Given the description of an element on the screen output the (x, y) to click on. 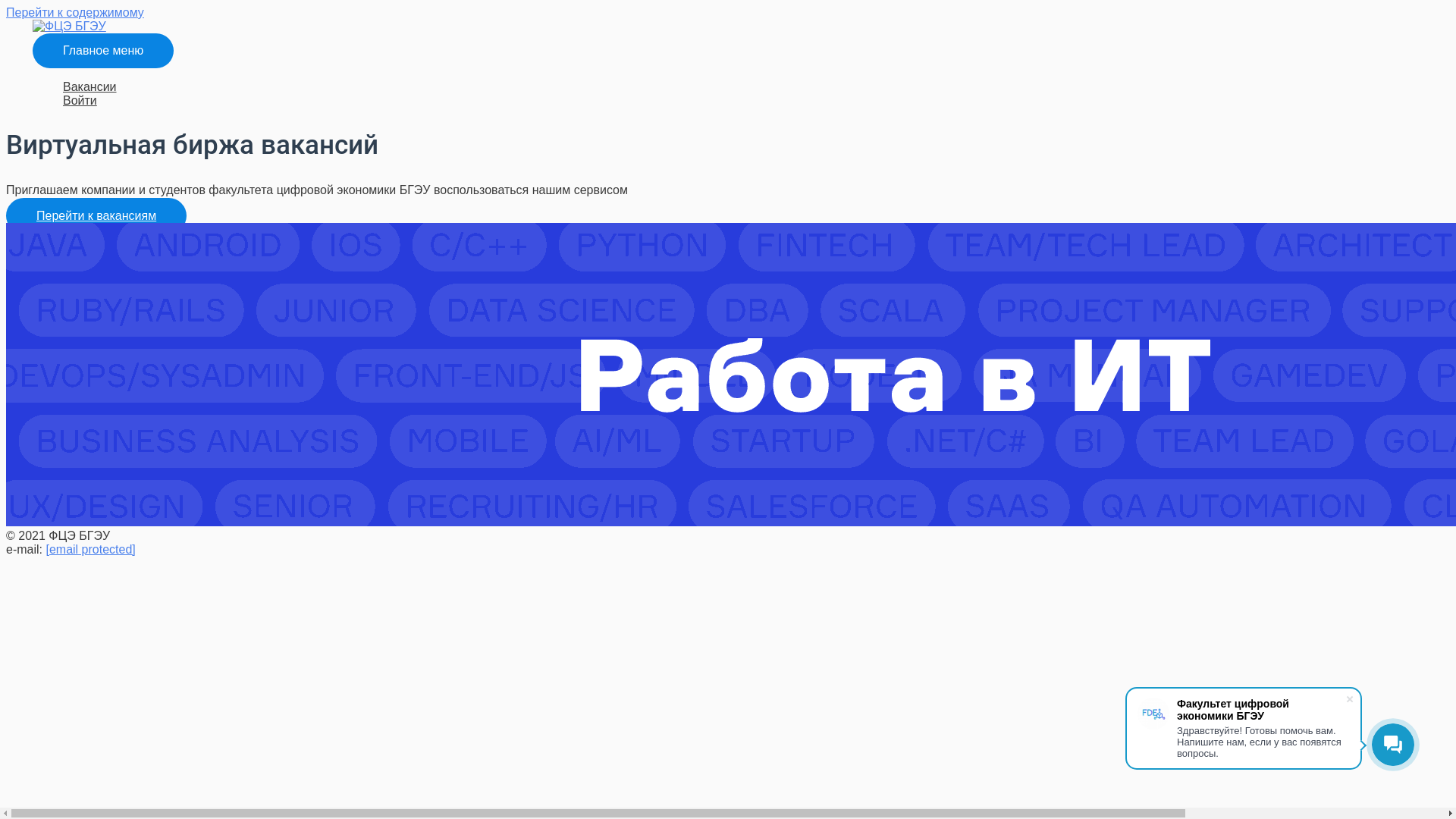
[email protected] Element type: text (89, 548)
